Given the description of an element on the screen output the (x, y) to click on. 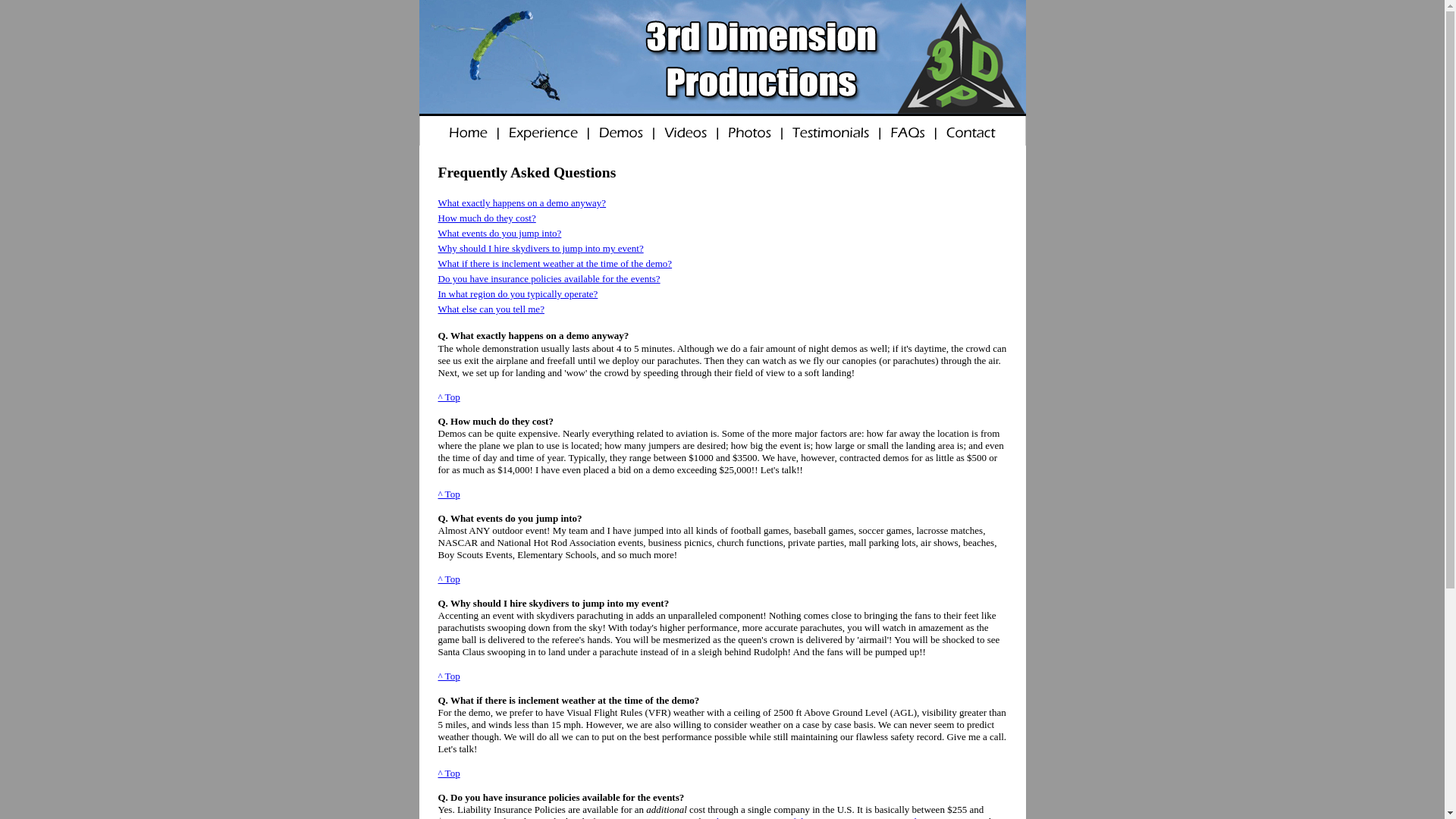
^ Top Element type: text (449, 578)
In what region do you typically operate? Element type: text (518, 293)
Do you have insurance policies available for the events? Element type: text (549, 278)
^ Top Element type: text (449, 772)
What if there is inclement weather at the time of the demo? Element type: text (555, 263)
How much do they cost? Element type: text (487, 217)
Why should I hire skydivers to jump into my event? Element type: text (540, 248)
What events do you jump into? Element type: text (499, 232)
^ Top Element type: text (449, 396)
What exactly happens on a demo anyway? Element type: text (522, 202)
^ Top Element type: text (449, 493)
^ Top Element type: text (449, 675)
What else can you tell me? Element type: text (491, 308)
